Given the description of an element on the screen output the (x, y) to click on. 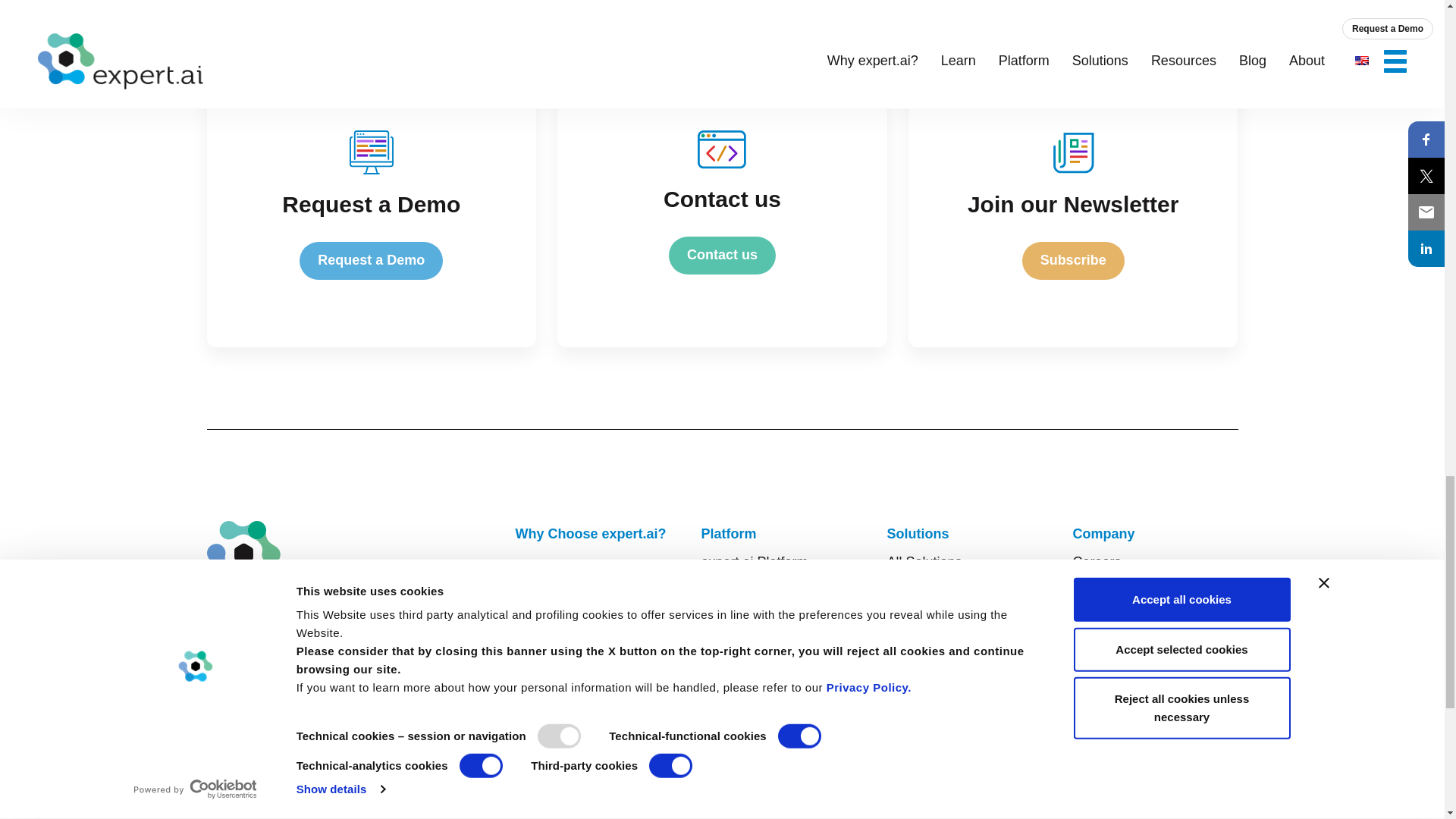
Glossary of AI Terms (578, 774)
Insurance (916, 589)
All Solutions (924, 561)
Apply NL to Your Business (595, 606)
Support (1095, 701)
Company (1102, 533)
News (1088, 646)
Platform Overview (756, 589)
Customer Stories (756, 718)
Why Choose expert.ai? (590, 533)
Responsible AI (746, 646)
Careers (1096, 561)
AI Labs (538, 746)
Contact Us (1105, 673)
Blog (1085, 802)
